Given the description of an element on the screen output the (x, y) to click on. 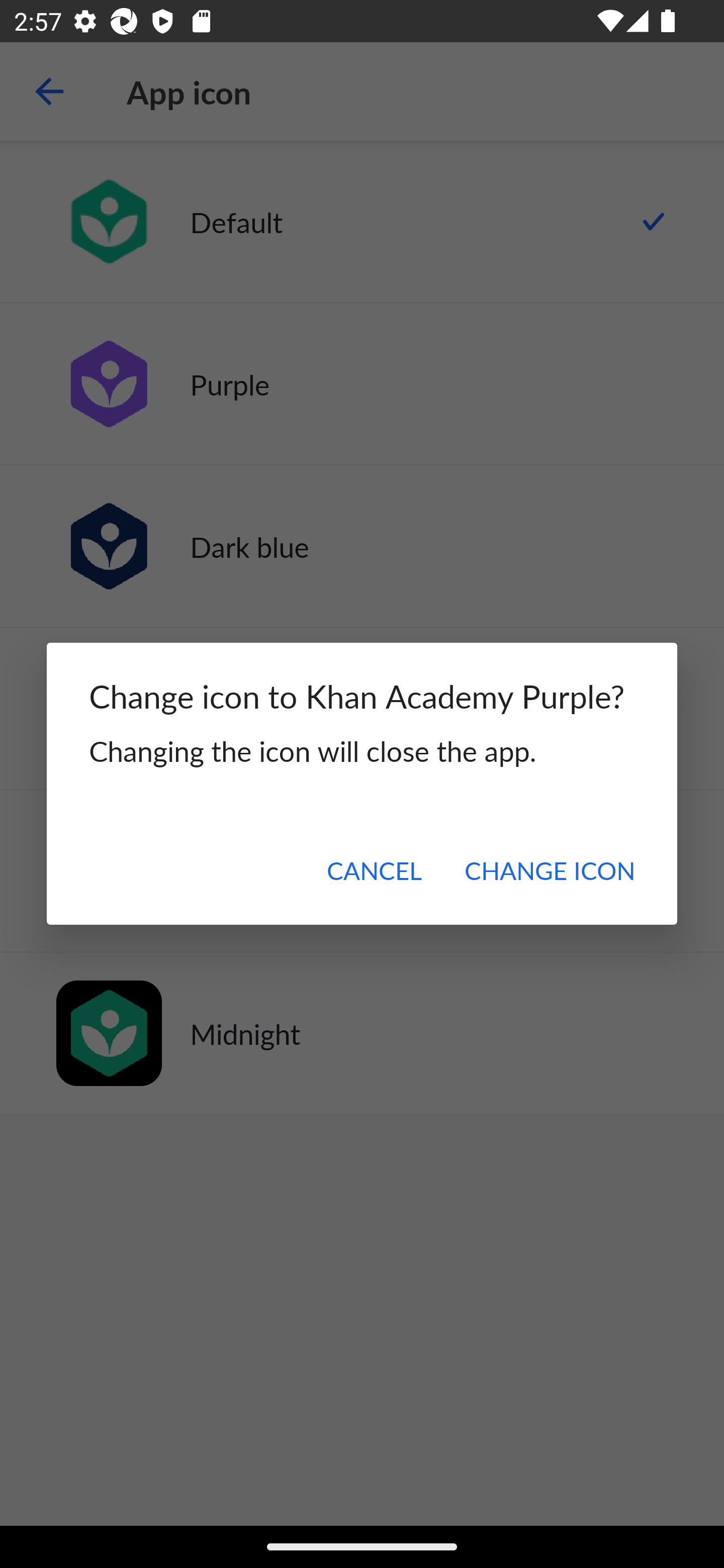
CANCEL (374, 870)
CHANGE ICON (549, 870)
